Given the description of an element on the screen output the (x, y) to click on. 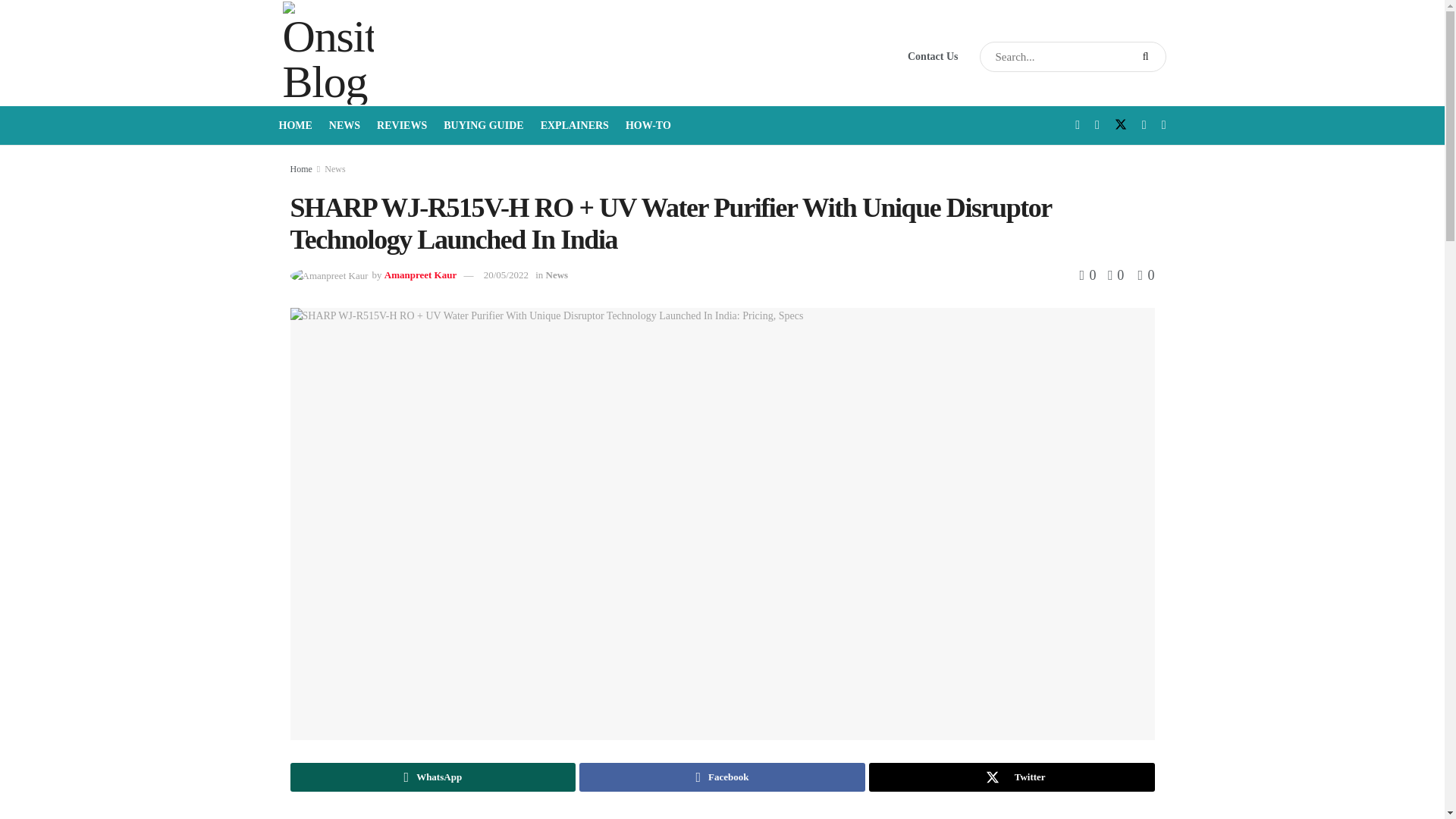
0 (1111, 274)
News (557, 274)
Contact Us (932, 56)
BUYING GUIDE (483, 125)
Facebook (721, 776)
WhatsApp (432, 776)
NEWS (344, 125)
0 (1145, 274)
News (334, 168)
0 (1090, 274)
